Given the description of an element on the screen output the (x, y) to click on. 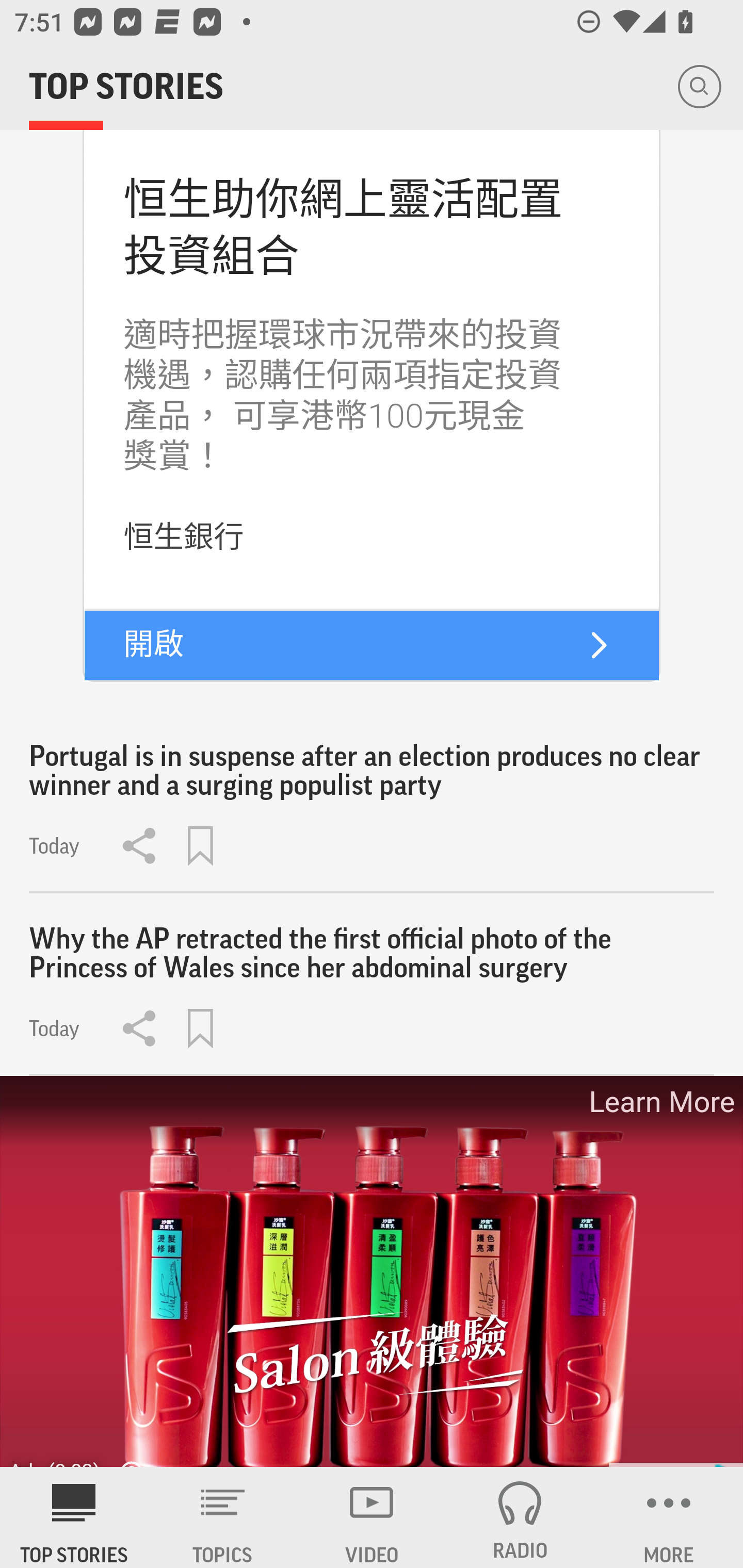
恒生助你網上靈活配置 投資組合 恒生助你網上靈活配置 投資組合 (342, 227)
恒生銀行 (183, 537)
B31268930 (598, 645)
開啟 (153, 644)
Learn More (660, 1101)
AP News TOP STORIES (74, 1517)
TOPICS (222, 1517)
VIDEO (371, 1517)
RADIO (519, 1517)
MORE (668, 1517)
